Given the description of an element on the screen output the (x, y) to click on. 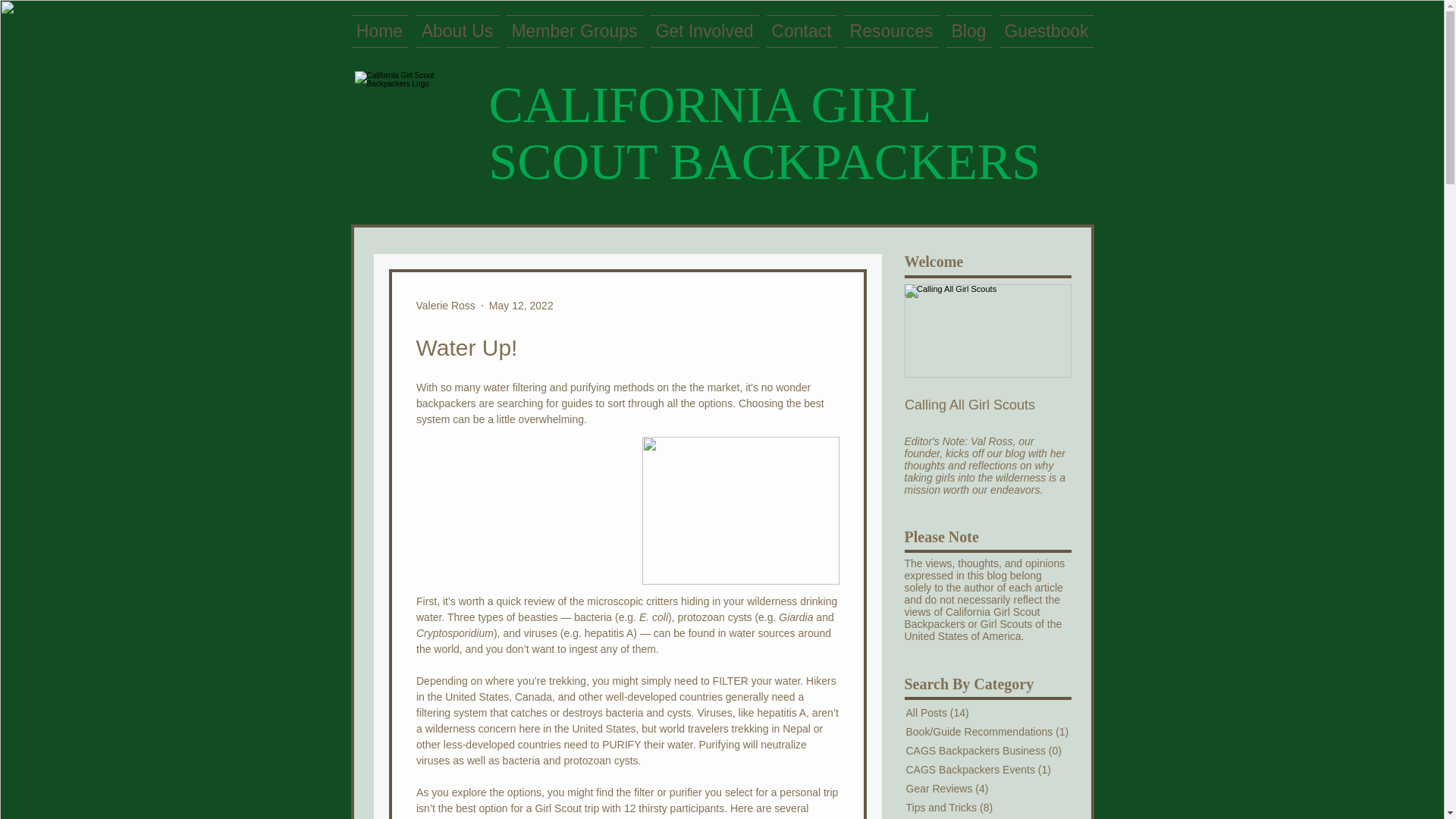
Calling All Girl Scouts (987, 405)
Valerie Ross (444, 304)
Get Involved (703, 31)
Member Groups (574, 31)
May 12, 2022 (521, 304)
Guestbook (1043, 31)
Blog (968, 31)
Calling All Girl Scouts (987, 359)
About Us (457, 31)
Home (381, 31)
